Given the description of an element on the screen output the (x, y) to click on. 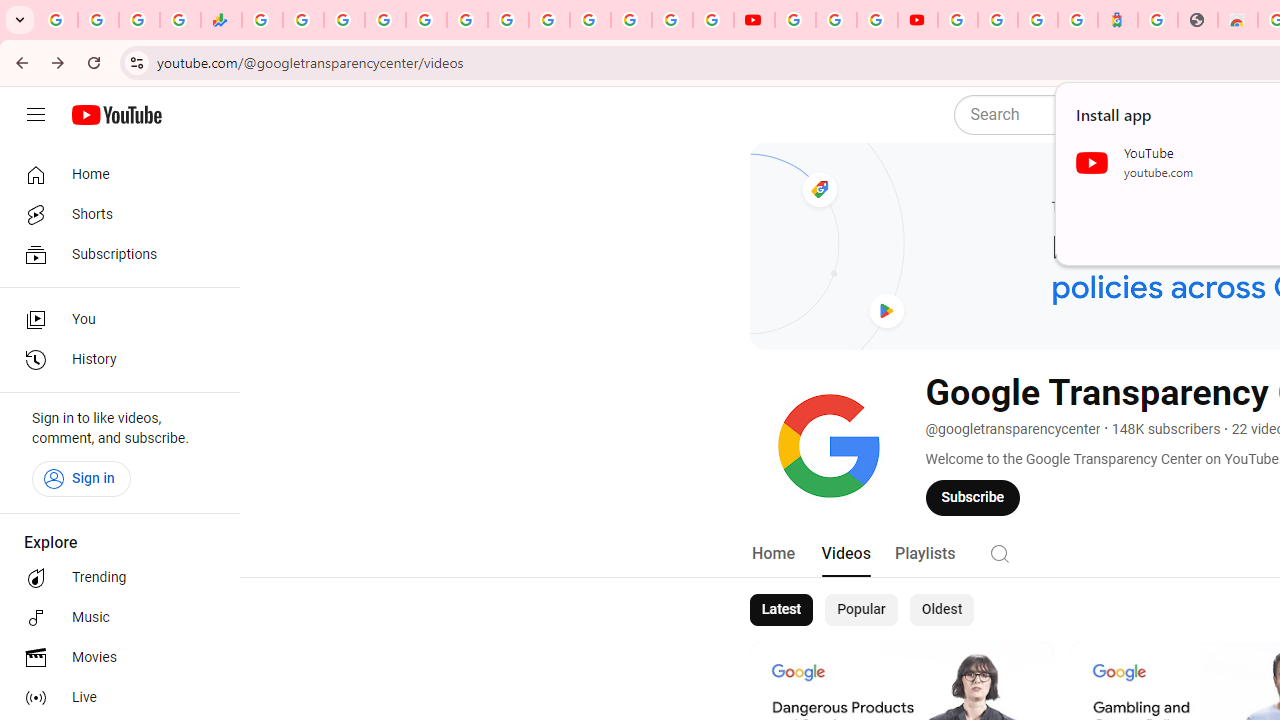
Subscriptions (113, 254)
Oldest (941, 609)
Sign in - Google Accounts (957, 20)
YouTube (753, 20)
Privacy Checkup (712, 20)
Android TV Policies and Guidelines - Transparency Center (507, 20)
Sign in - Google Accounts (589, 20)
